Given the description of an element on the screen output the (x, y) to click on. 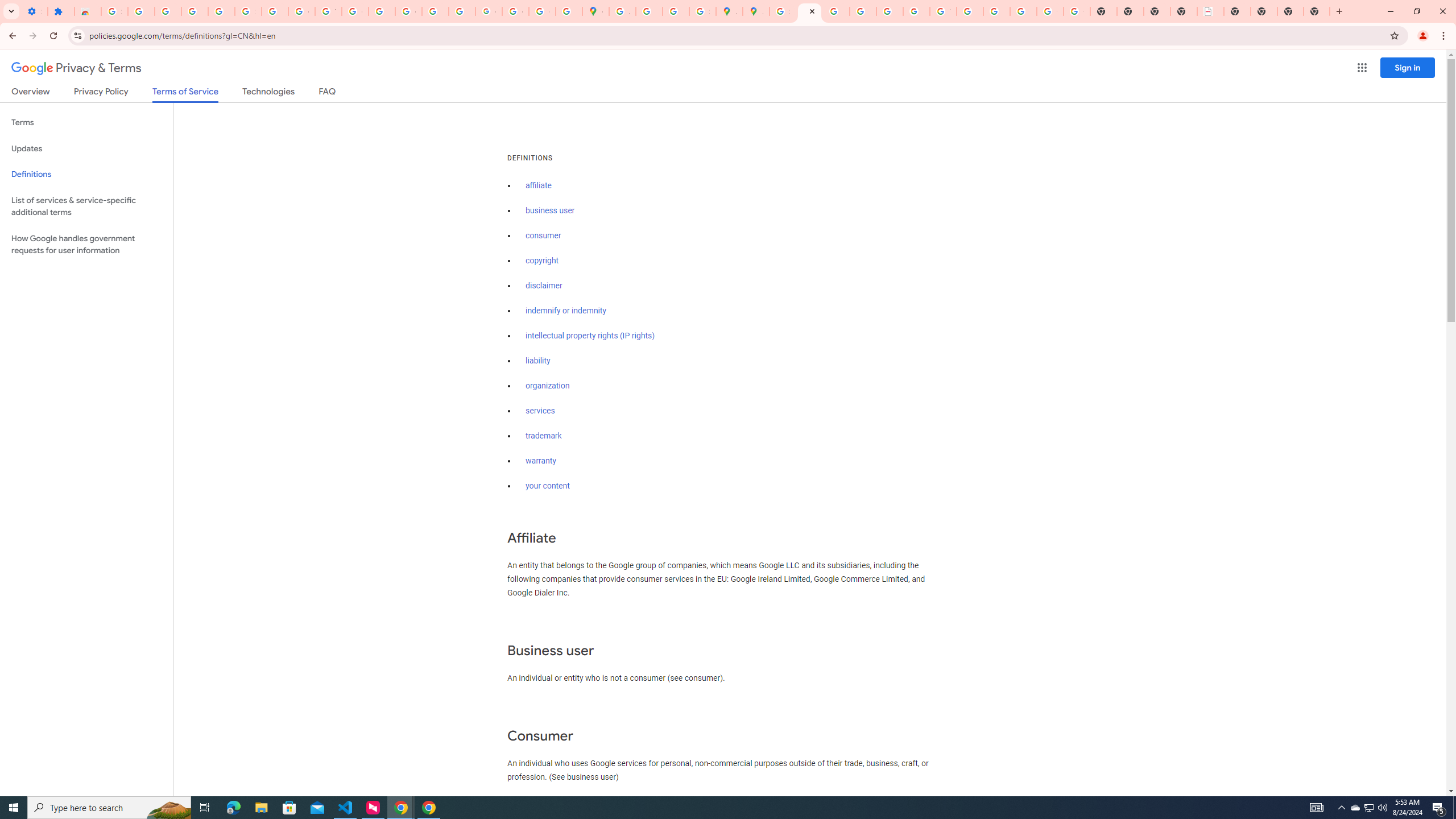
your content (547, 486)
Terms (86, 122)
How Google handles government requests for user information (86, 244)
YouTube (943, 11)
Privacy & Terms (76, 68)
Google Maps (595, 11)
disclaimer (543, 285)
warranty (540, 461)
